Given the description of an element on the screen output the (x, y) to click on. 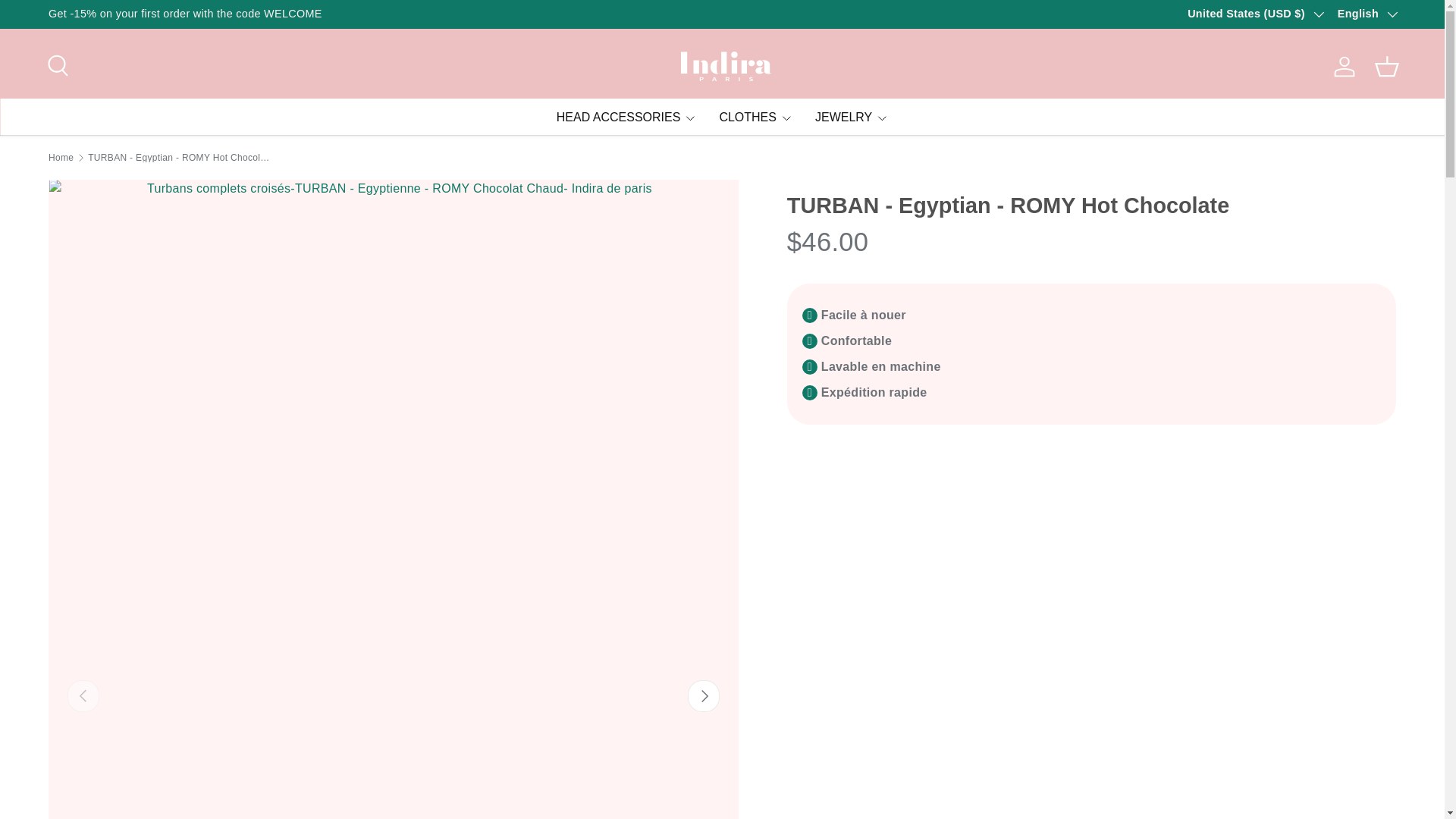
Home (61, 157)
Skip to content (64, 21)
English (1367, 13)
HEAD ACCESSORIES (626, 116)
CLOTHES (755, 116)
Search (55, 63)
JEWELRY (851, 116)
TURBAN - Egyptian - ROMY Hot Chocolate (178, 157)
Log in (1344, 66)
Basket (1386, 66)
